Given the description of an element on the screen output the (x, y) to click on. 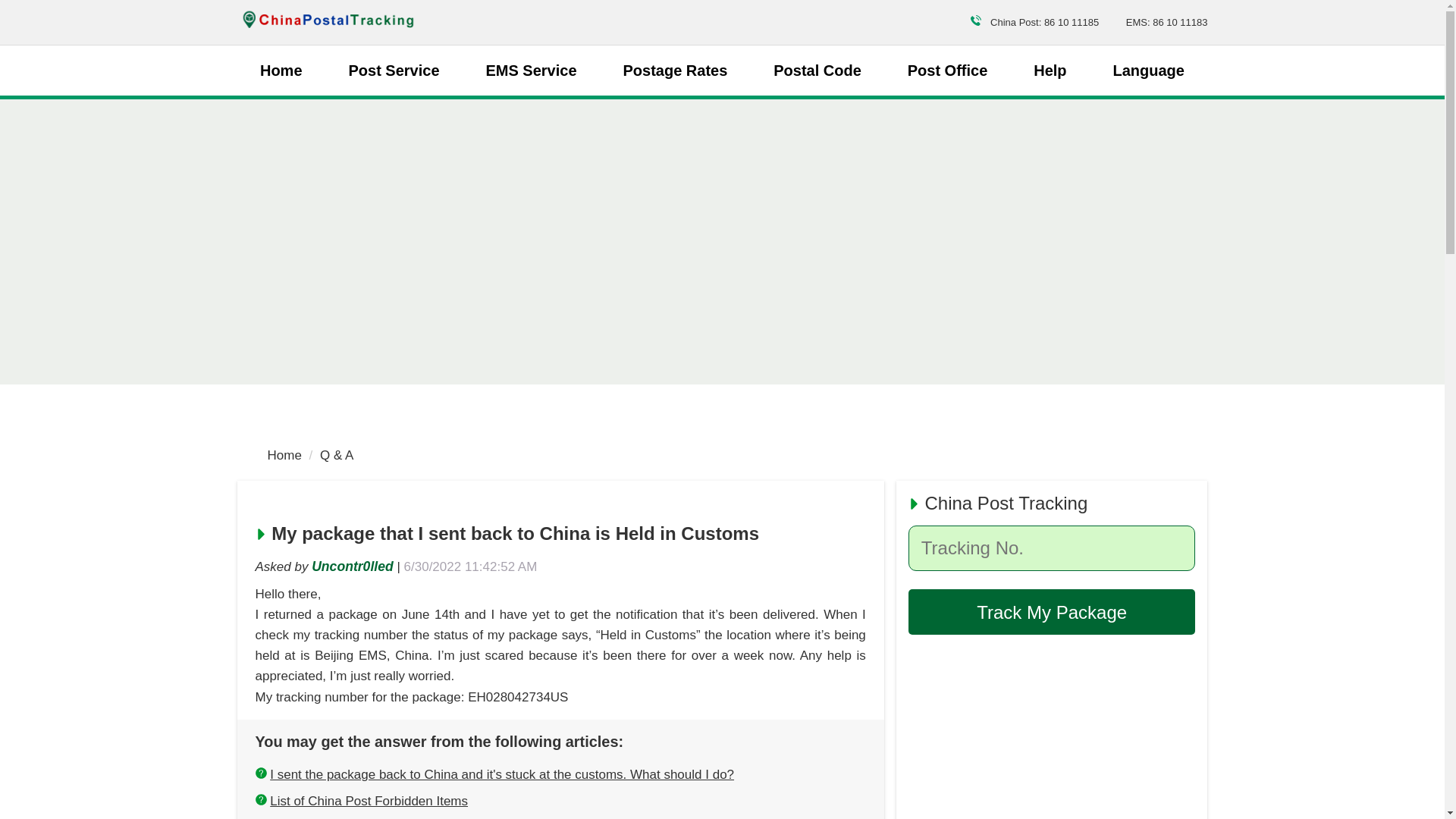
EMS Service (530, 70)
List of China Post Forbidden Items (368, 800)
Home (281, 70)
List of China Post Forbidden Items (368, 800)
Post Service (393, 70)
Home (283, 454)
Post Office (947, 70)
